Given the description of an element on the screen output the (x, y) to click on. 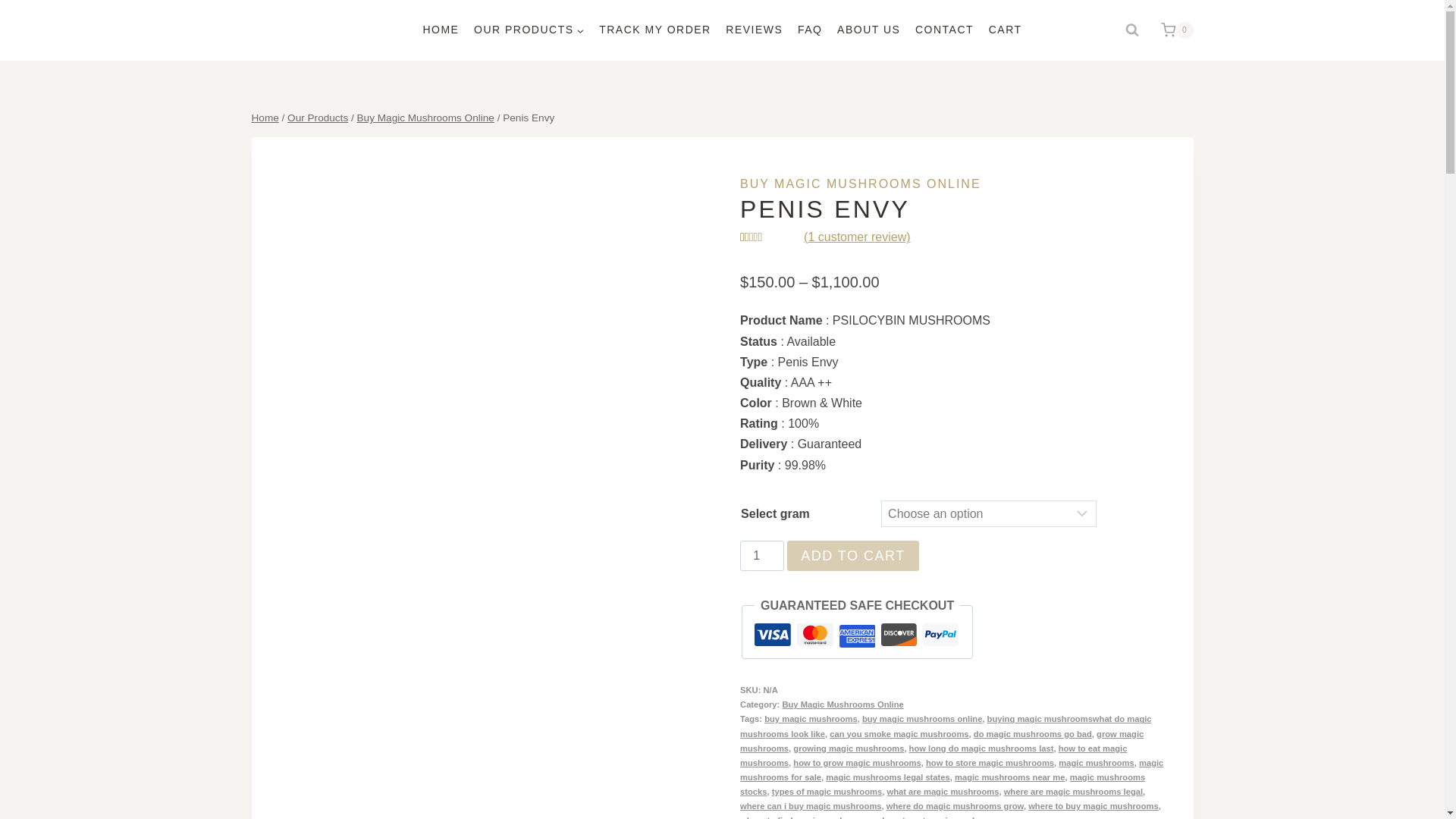
FAQ (809, 30)
HOME (440, 30)
Home (265, 117)
REVIEWS (754, 30)
OUR PRODUCTS (528, 30)
ABOUT US (868, 30)
Buy Magic Mushrooms Online (425, 117)
Our Products (316, 117)
CONTACT (944, 30)
TRACK MY ORDER (654, 30)
CART (1005, 30)
0 (1172, 30)
BUY MAGIC MUSHROOMS ONLINE (860, 183)
1 (761, 555)
